Given the description of an element on the screen output the (x, y) to click on. 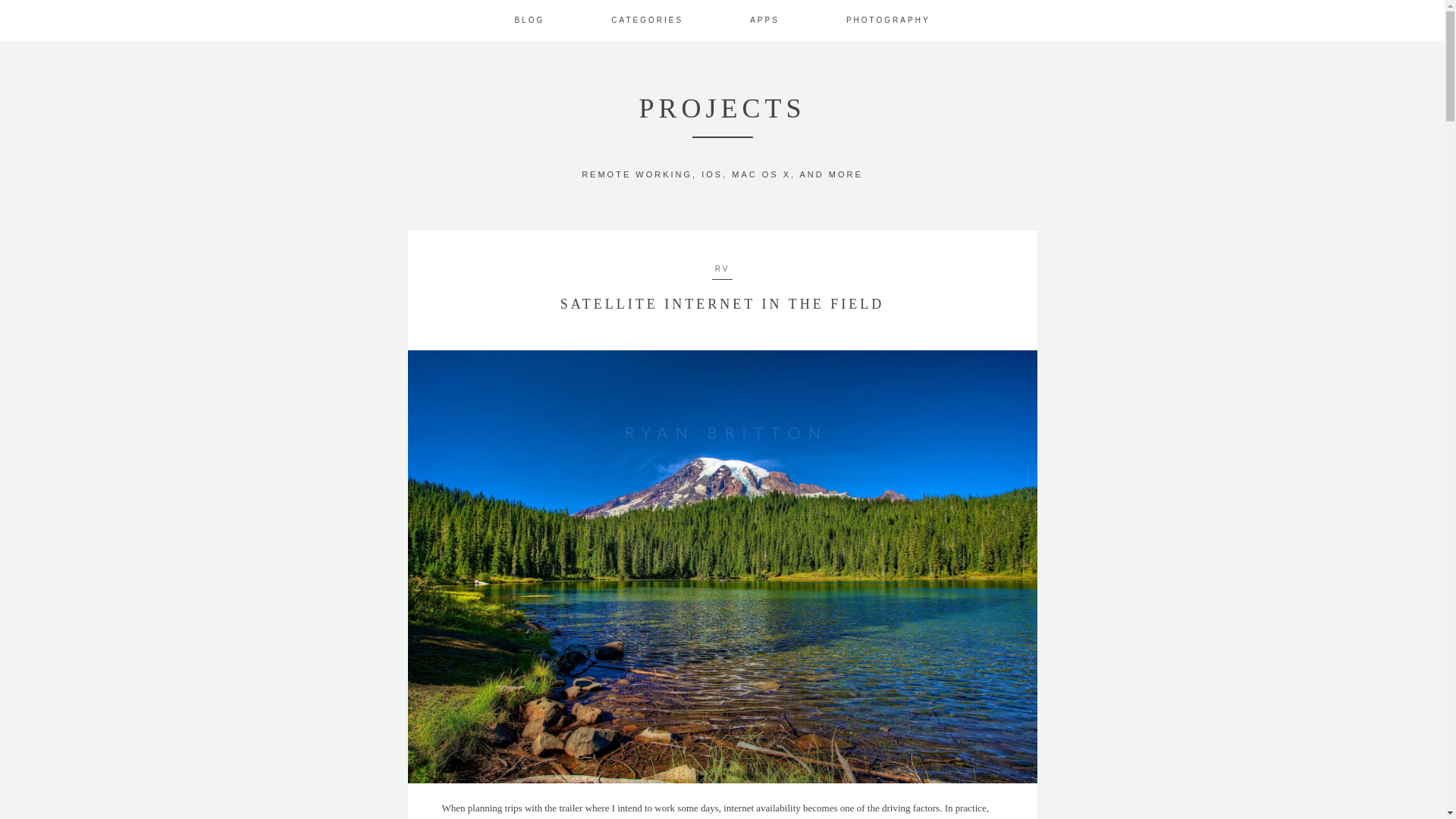
CATEGORIES (646, 20)
RV (722, 267)
PHOTOGRAPHY (887, 20)
PROJECTS (722, 108)
